Given the description of an element on the screen output the (x, y) to click on. 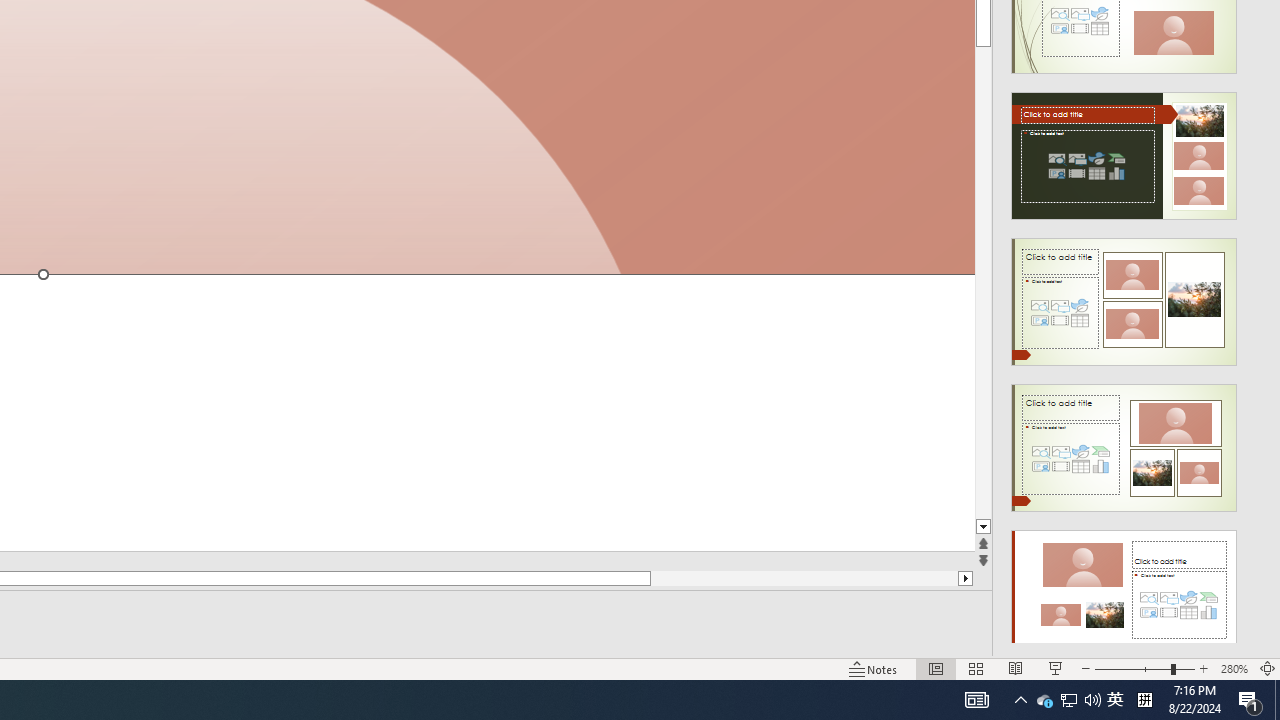
Zoom 280% (1234, 668)
